Given the description of an element on the screen output the (x, y) to click on. 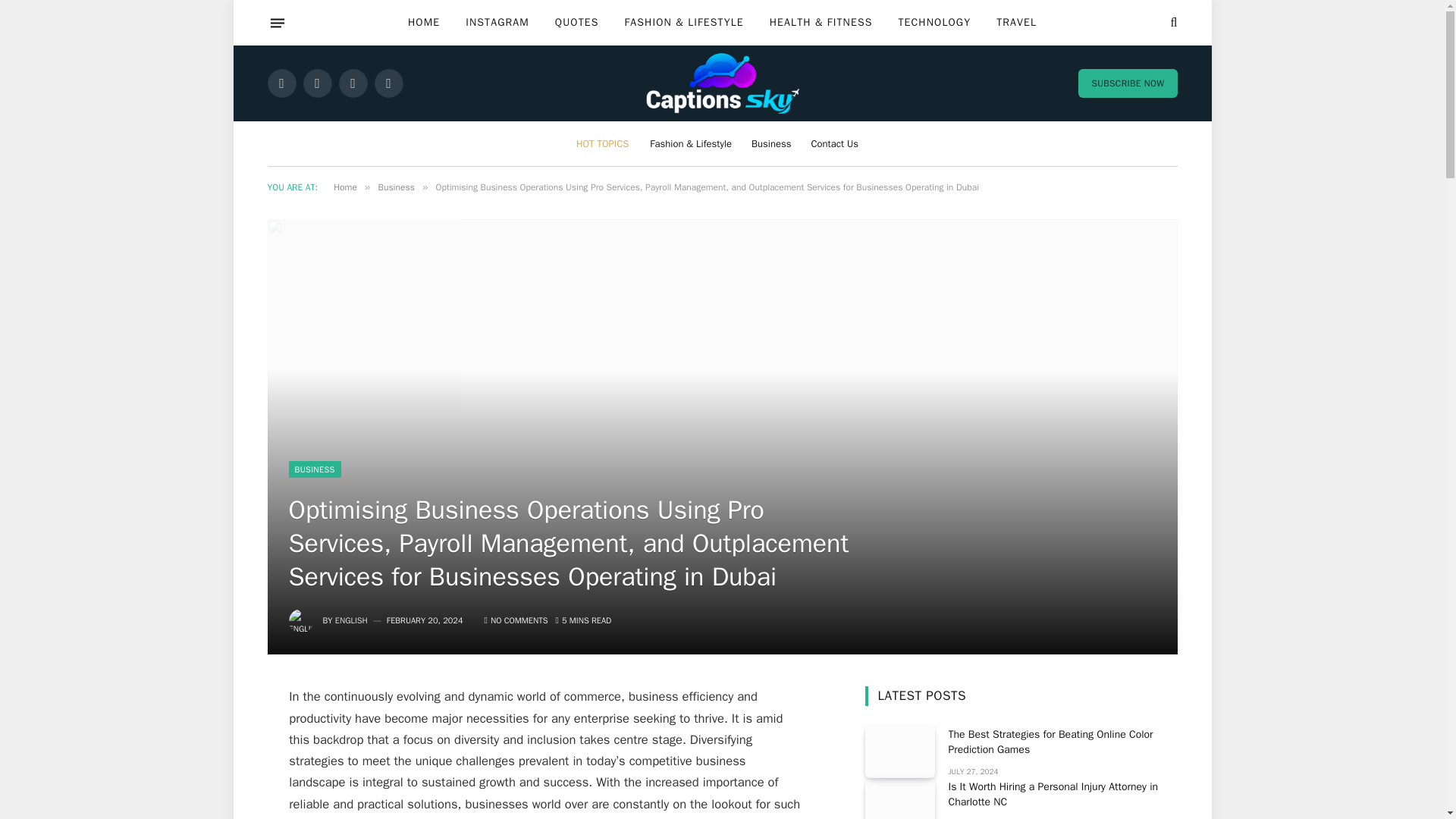
ENGLISH (351, 620)
TECHNOLOGY (934, 22)
QUOTES (576, 22)
Posts by English (351, 620)
Instagram (351, 82)
INSTAGRAM (496, 22)
Pinterest (388, 82)
Facebook (280, 82)
NO COMMENTS (516, 620)
Home (344, 186)
Business (770, 143)
TRAVEL (1016, 22)
Business (395, 186)
SUBSCRIBE NOW (1127, 82)
